Given the description of an element on the screen output the (x, y) to click on. 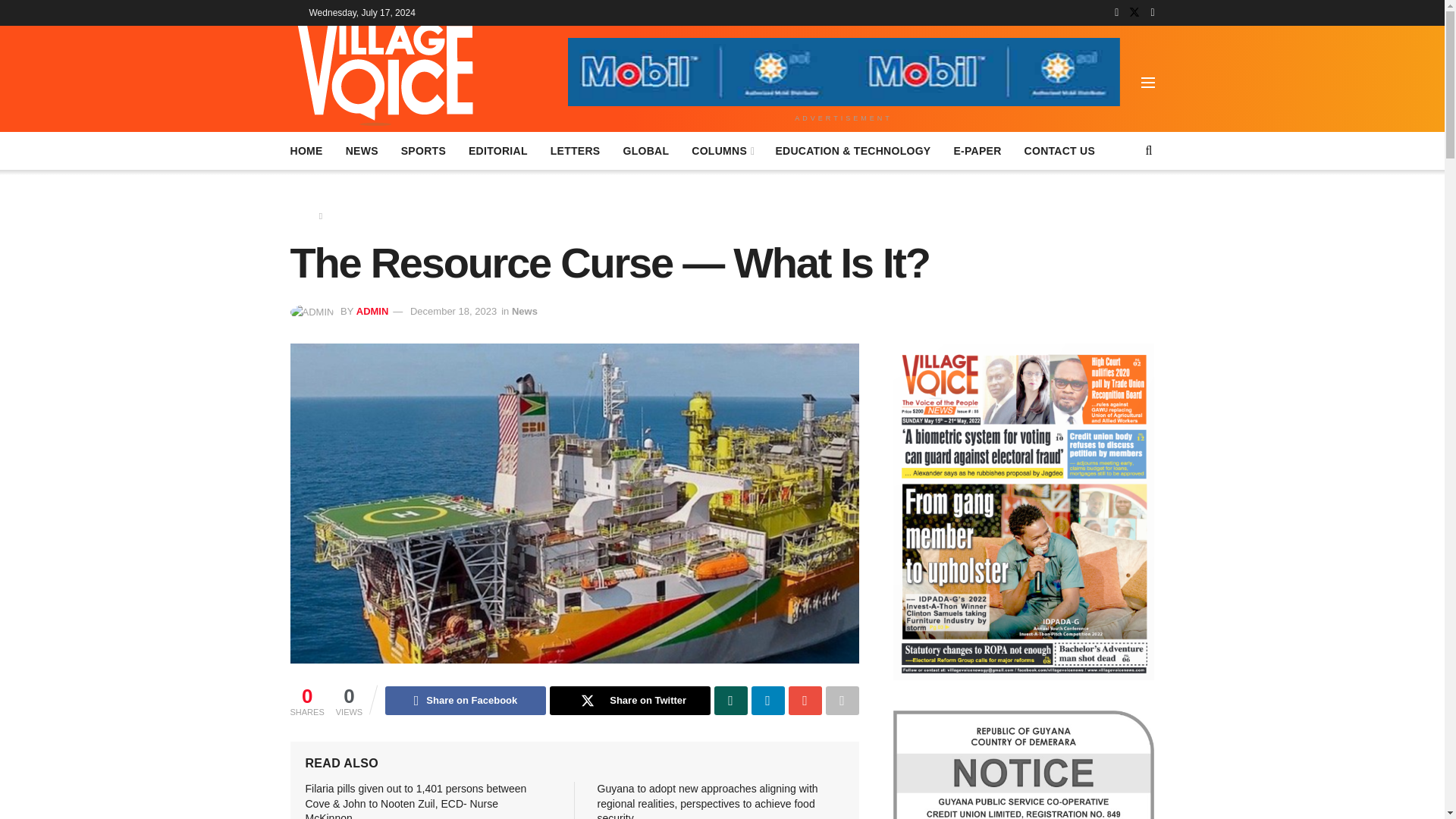
CONTACT US (1060, 150)
SPORTS (423, 150)
E-PAPER (977, 150)
COLUMNS (721, 150)
NEWS (362, 150)
GLOBAL (645, 150)
LETTERS (574, 150)
HOME (305, 150)
EDITORIAL (497, 150)
